Given the description of an element on the screen output the (x, y) to click on. 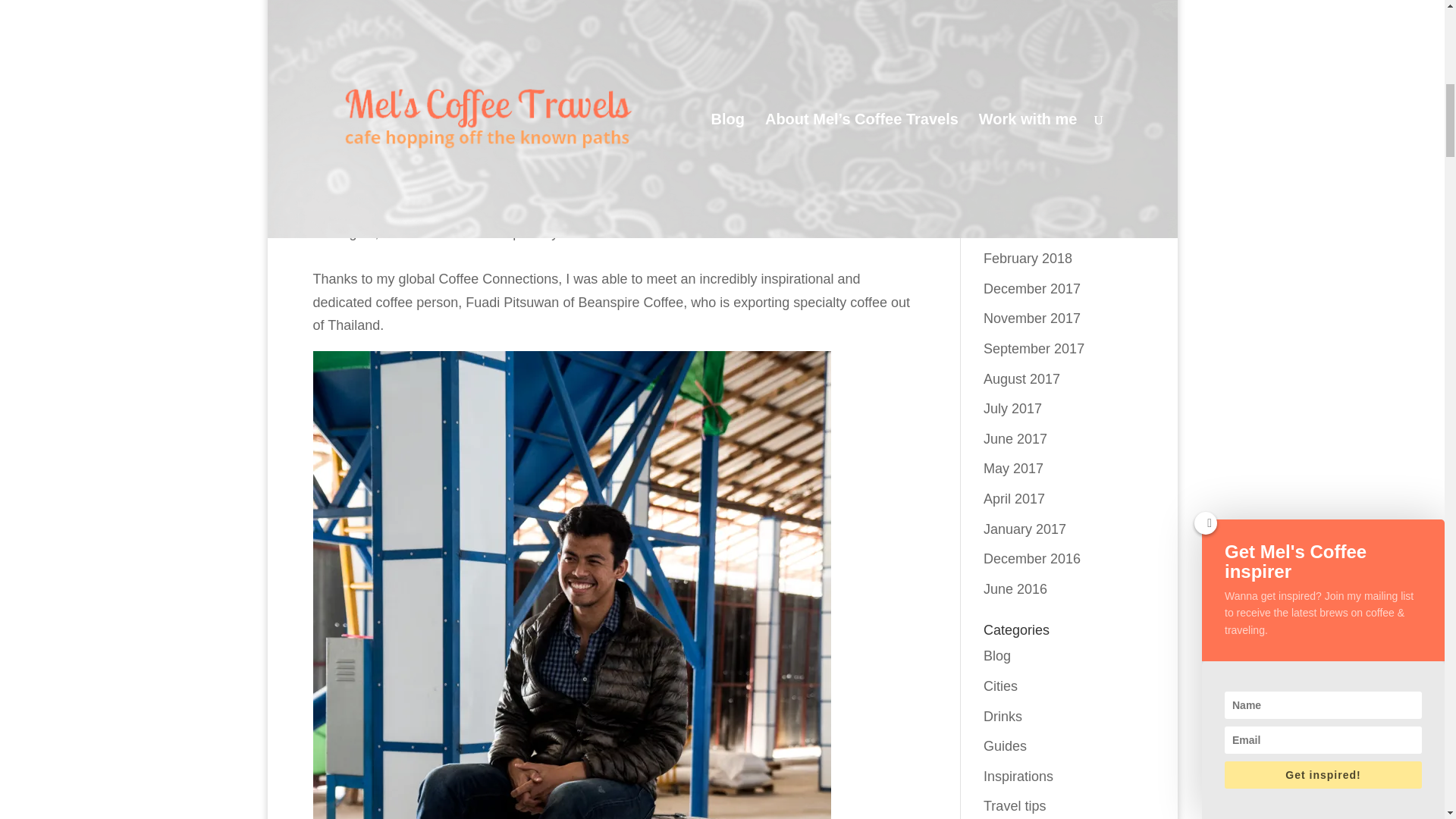
August 2018 (1021, 168)
July 2017 (1013, 408)
December 2017 (1032, 288)
November 2017 (1032, 318)
August 2017 (1021, 378)
March 2019 (1019, 108)
December 2019 (1032, 48)
March 2018 (1019, 228)
September 2017 (1034, 348)
October 2019 (1024, 78)
January 2019 (1024, 138)
February 2018 (1027, 258)
April 2018 (1014, 198)
May 2020 (1013, 17)
